Given the description of an element on the screen output the (x, y) to click on. 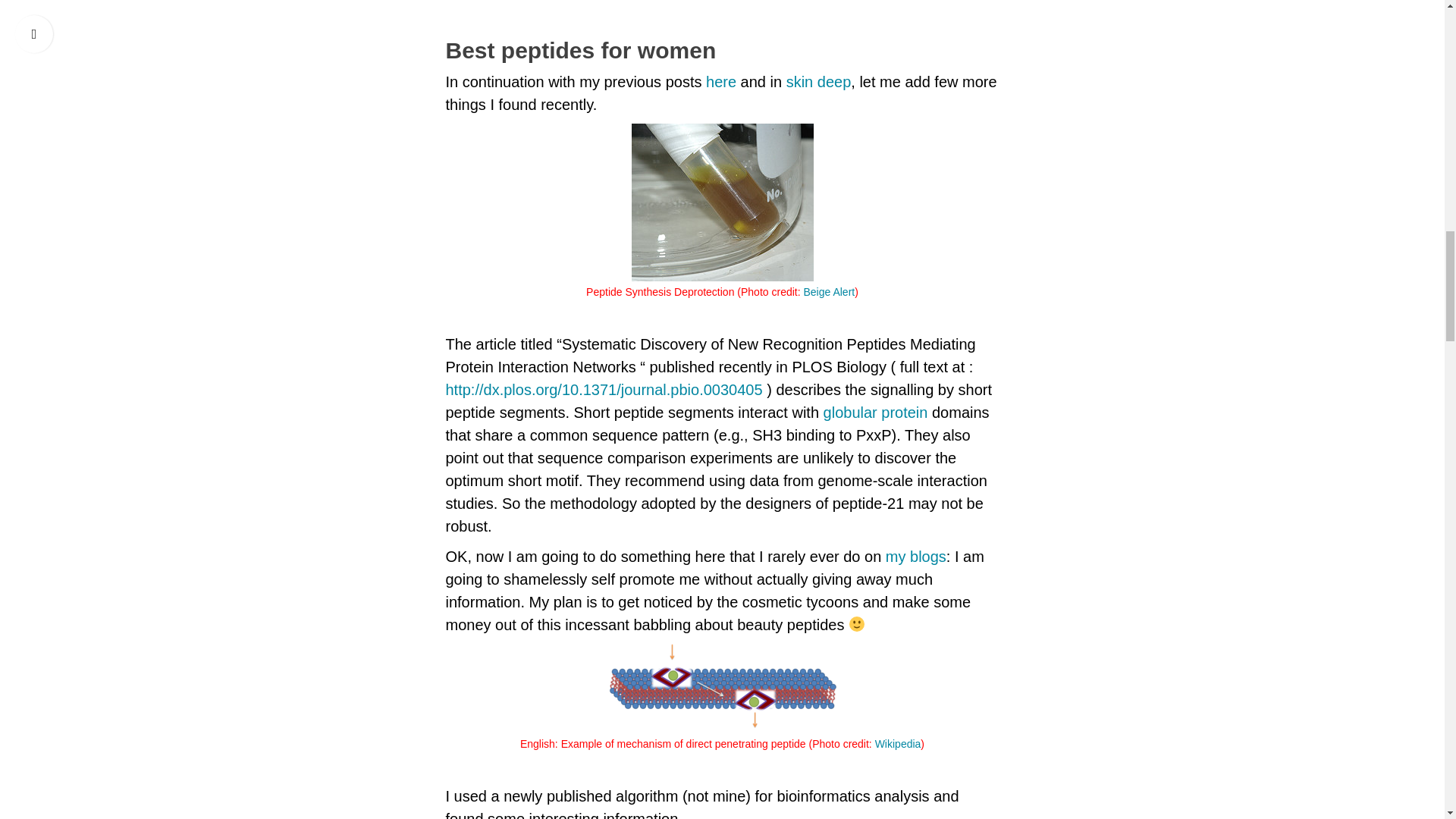
my blogs (915, 556)
Beige Alert (829, 291)
globular protein (876, 412)
here (721, 81)
skin deep (818, 81)
Best peptides for women (721, 50)
Globular protein (876, 412)
Wikipedia (898, 743)
